Given the description of an element on the screen output the (x, y) to click on. 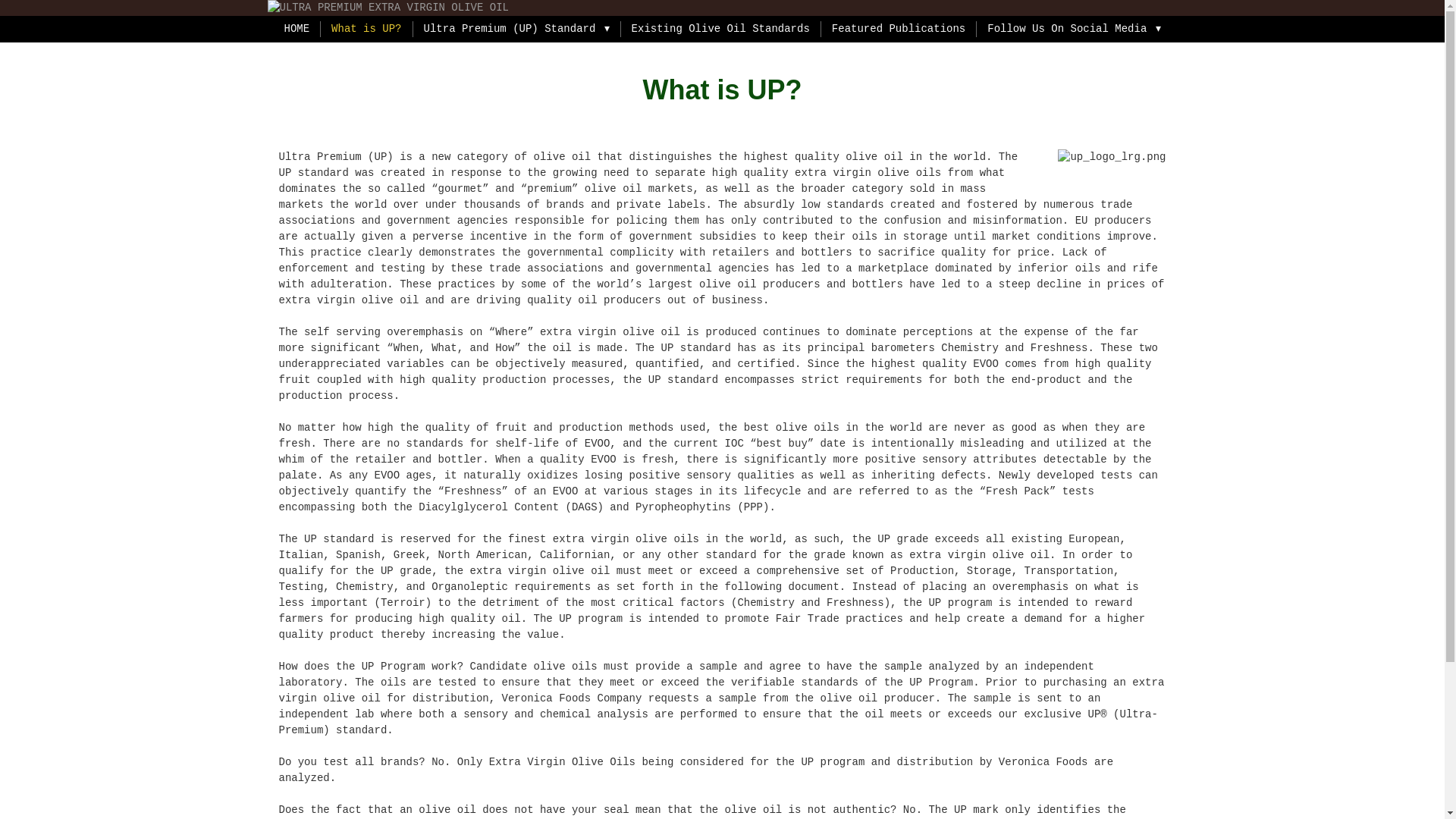
Featured Publications (898, 28)
What is UP? (366, 28)
HOME (295, 28)
ULTRA PREMIUM EXTRA VIRGIN OLIVE OIL (721, 7)
Existing Olive Oil Standards (720, 28)
